Given the description of an element on the screen output the (x, y) to click on. 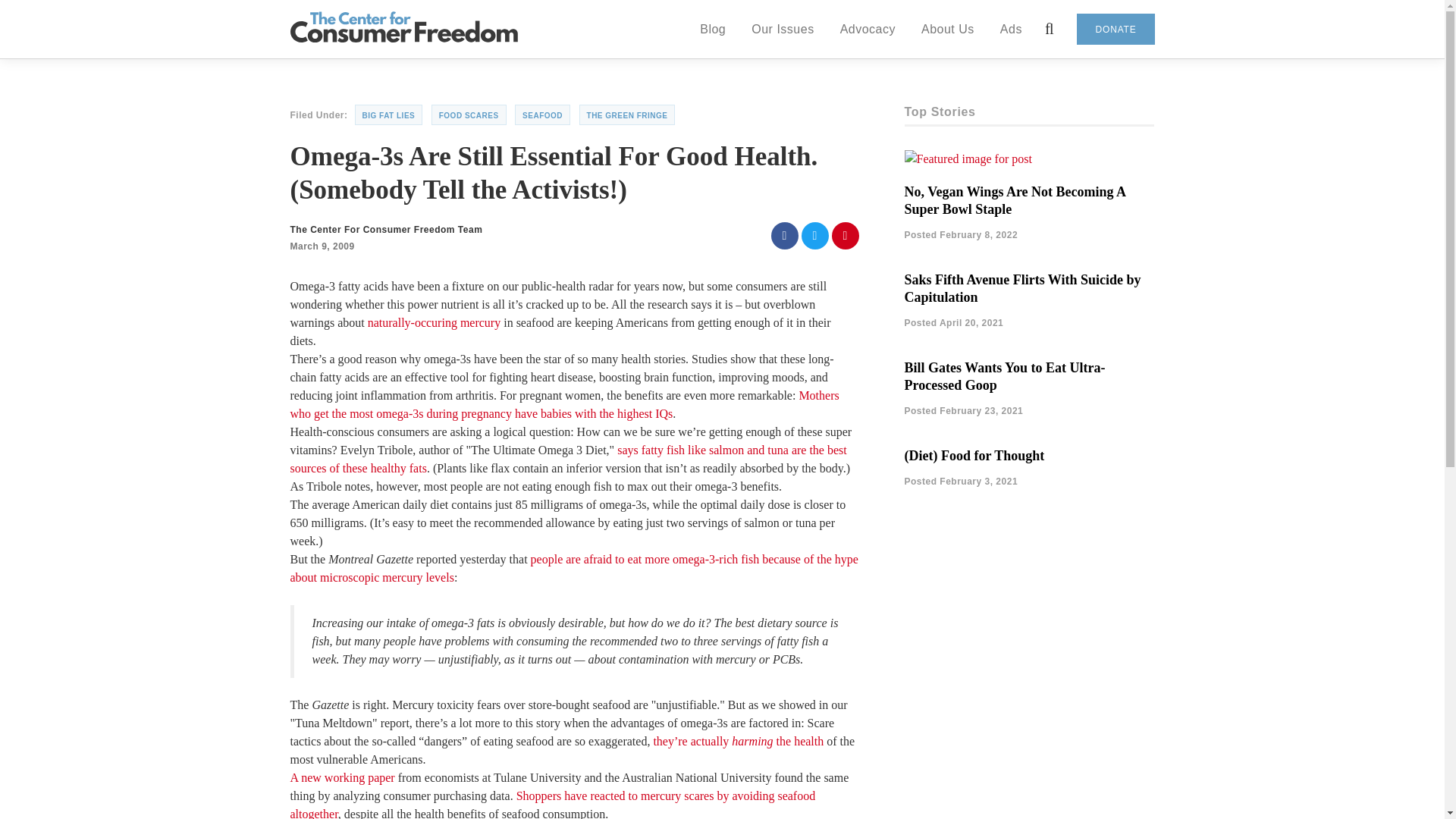
BIG FAT LIES (389, 114)
Advocacy (867, 28)
Blog (712, 28)
Open Search Modal (1049, 29)
DONATE (1115, 29)
Our Issues (782, 28)
naturally-occuring mercury (434, 322)
Share on Twitter (814, 235)
About Us (947, 28)
Share on Email (845, 235)
A new working paper (341, 777)
Share on Facebook (783, 235)
THE GREEN FRINGE (627, 114)
FOOD SCARES (468, 114)
SEAFOOD (542, 114)
